Given the description of an element on the screen output the (x, y) to click on. 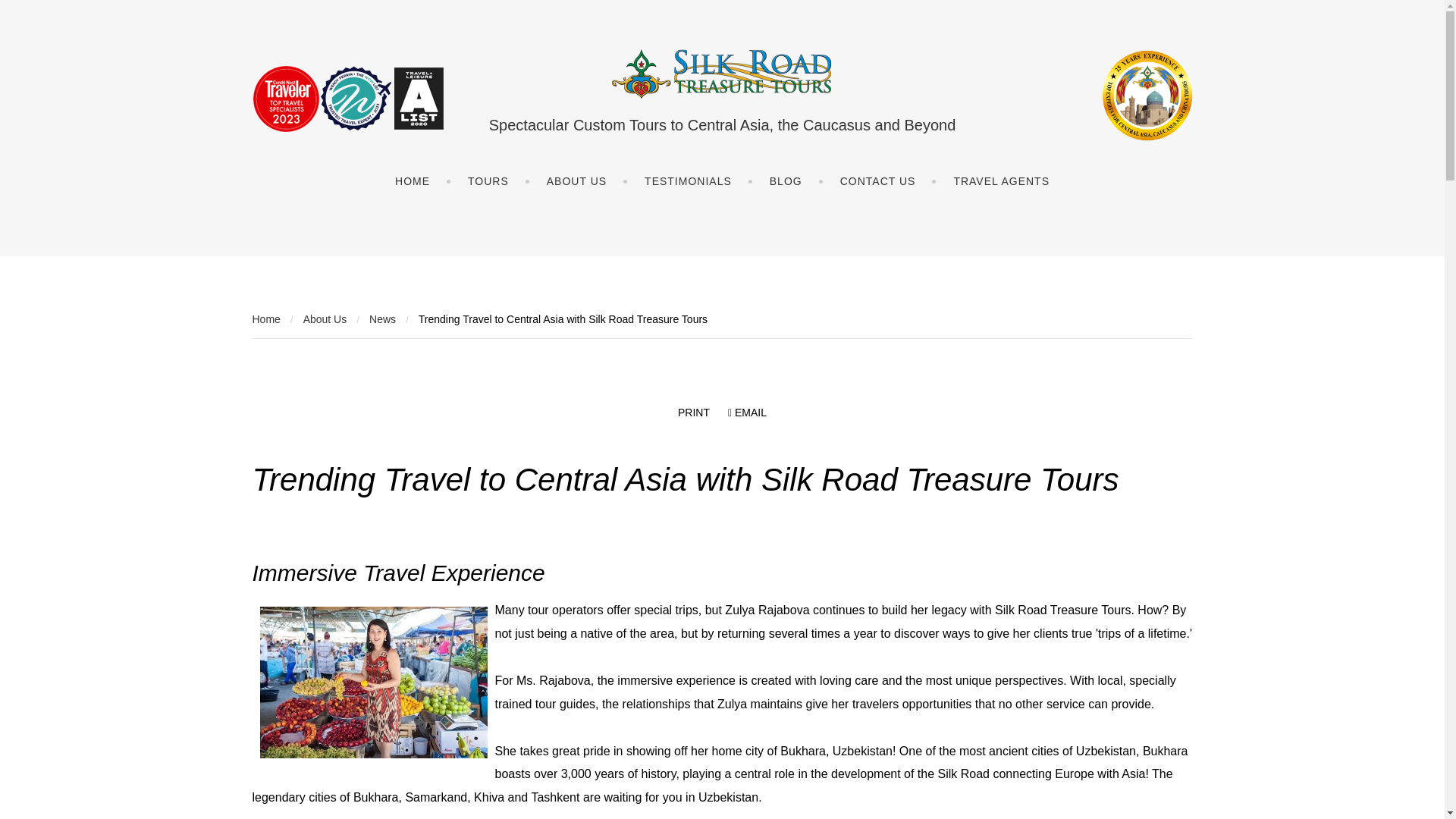
CONTACT US (878, 181)
ABOUT US (576, 181)
EMAIL (747, 412)
News (382, 318)
BLOG (785, 181)
TRAVEL AGENTS (1000, 181)
TESTIMONIALS (687, 181)
TOURS (488, 181)
PRINT (694, 412)
About Us (324, 318)
